Given the description of an element on the screen output the (x, y) to click on. 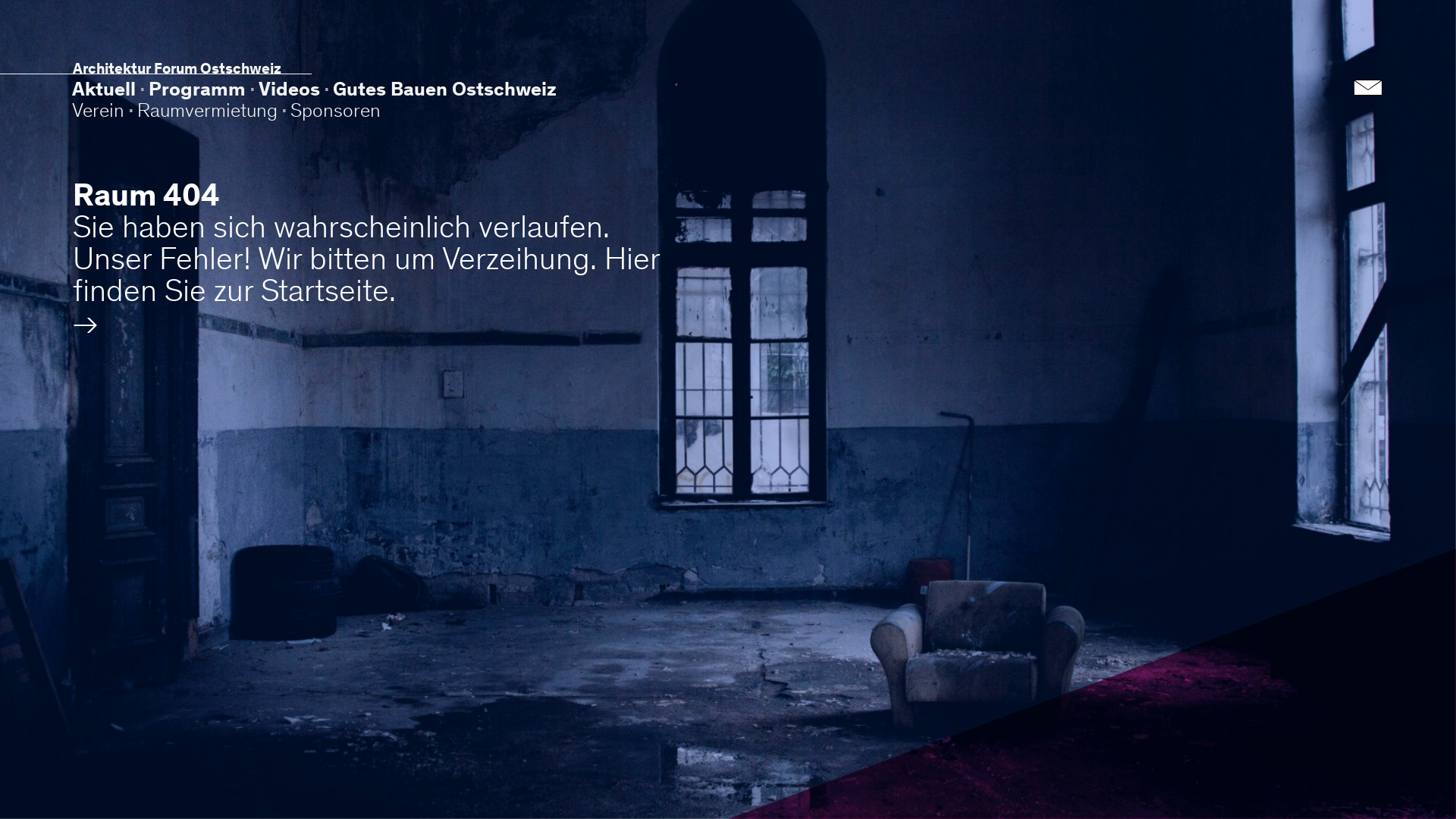
Videos Element type: text (289, 89)
Verein Element type: text (98, 111)
Programm Element type: text (196, 89)
Kontakt einblenden Element type: hover (1367, 79)
Aktuell Element type: text (103, 89)
Gutes Bauen Ostschweiz Element type: text (444, 89)
Raumvermietung Element type: text (207, 111)
Sponsoren Element type: text (335, 111)
Architektur Forum Ostschweiz Element type: text (176, 68)
